Given the description of an element on the screen output the (x, y) to click on. 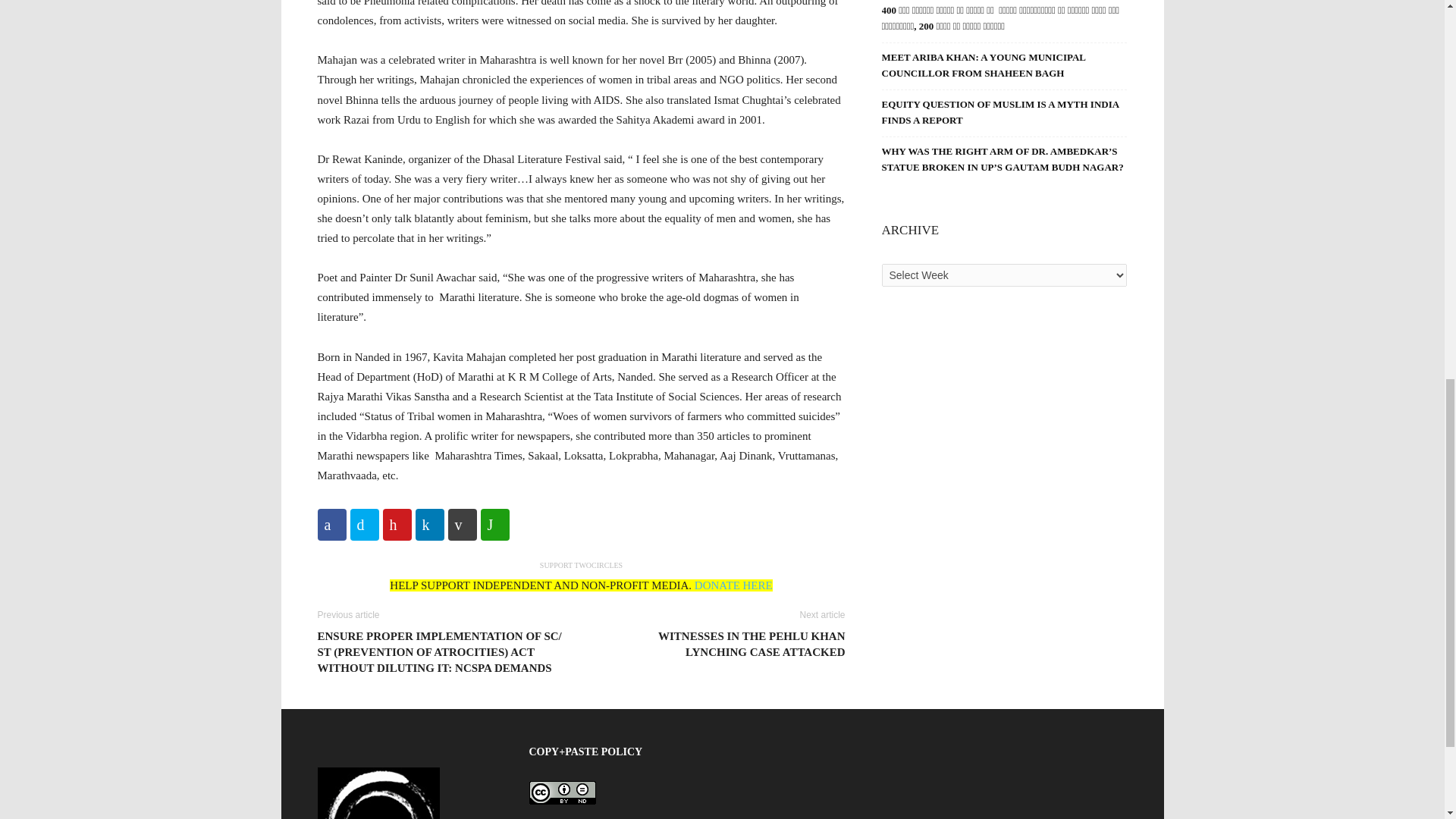
Share on WhatsApp (494, 524)
Share on LinkedIn (429, 524)
Share on Pinterest (395, 524)
Share on Twitter (364, 524)
Share on Facebook (331, 524)
Share on Email (461, 524)
